Given the description of an element on the screen output the (x, y) to click on. 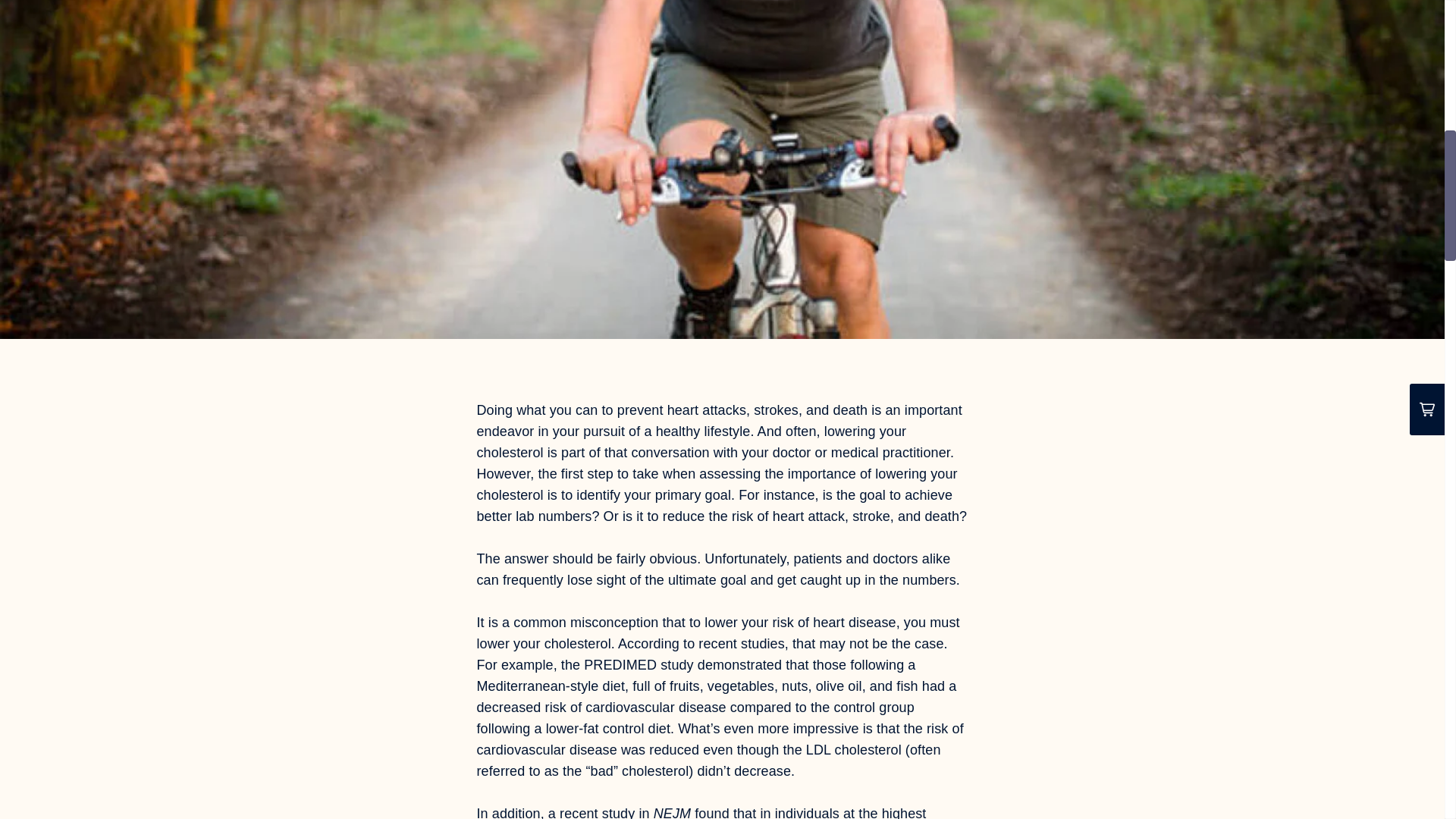
NEJM (671, 812)
the PREDIMED (608, 664)
Mediterranean-style diet (550, 685)
